Given the description of an element on the screen output the (x, y) to click on. 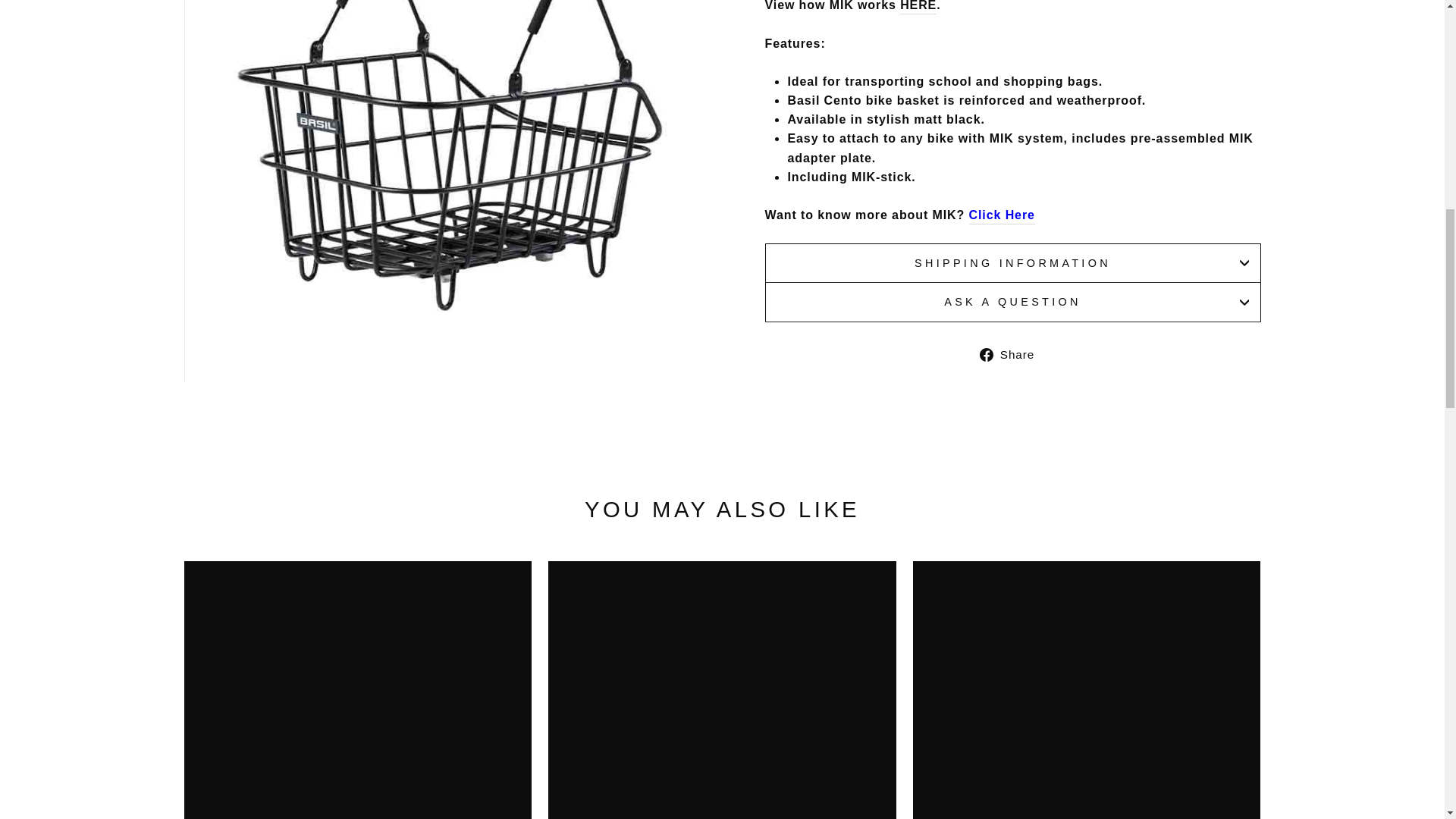
Share on Facebook (1012, 353)
